Given the description of an element on the screen output the (x, y) to click on. 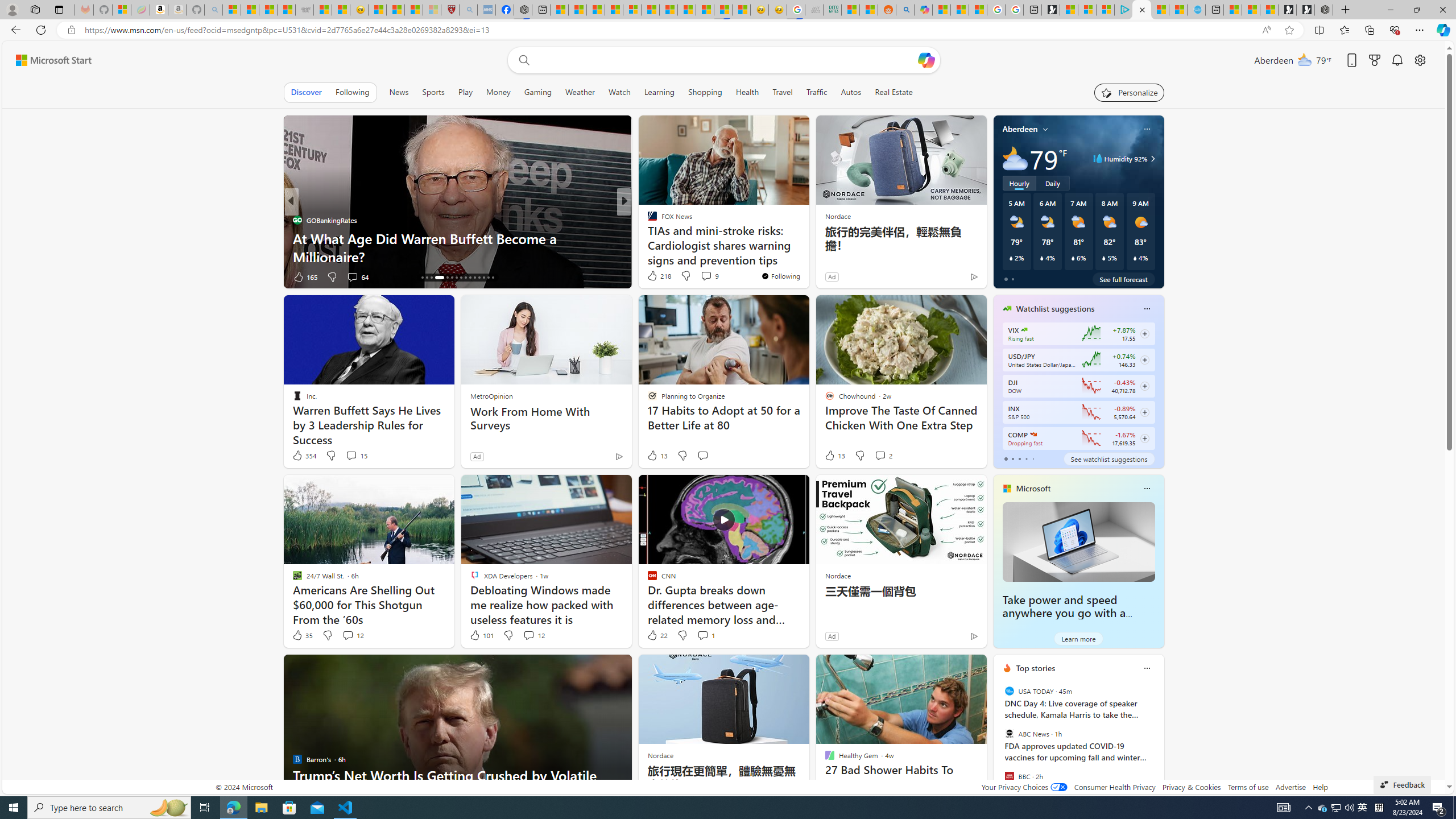
View comments 5 Comment (702, 276)
876 Like (654, 276)
AutomationID: tab-19 (435, 277)
AutomationID: tab-22 (456, 277)
Class: follow-button  m (1144, 438)
Learn more (1078, 638)
